Given the description of an element on the screen output the (x, y) to click on. 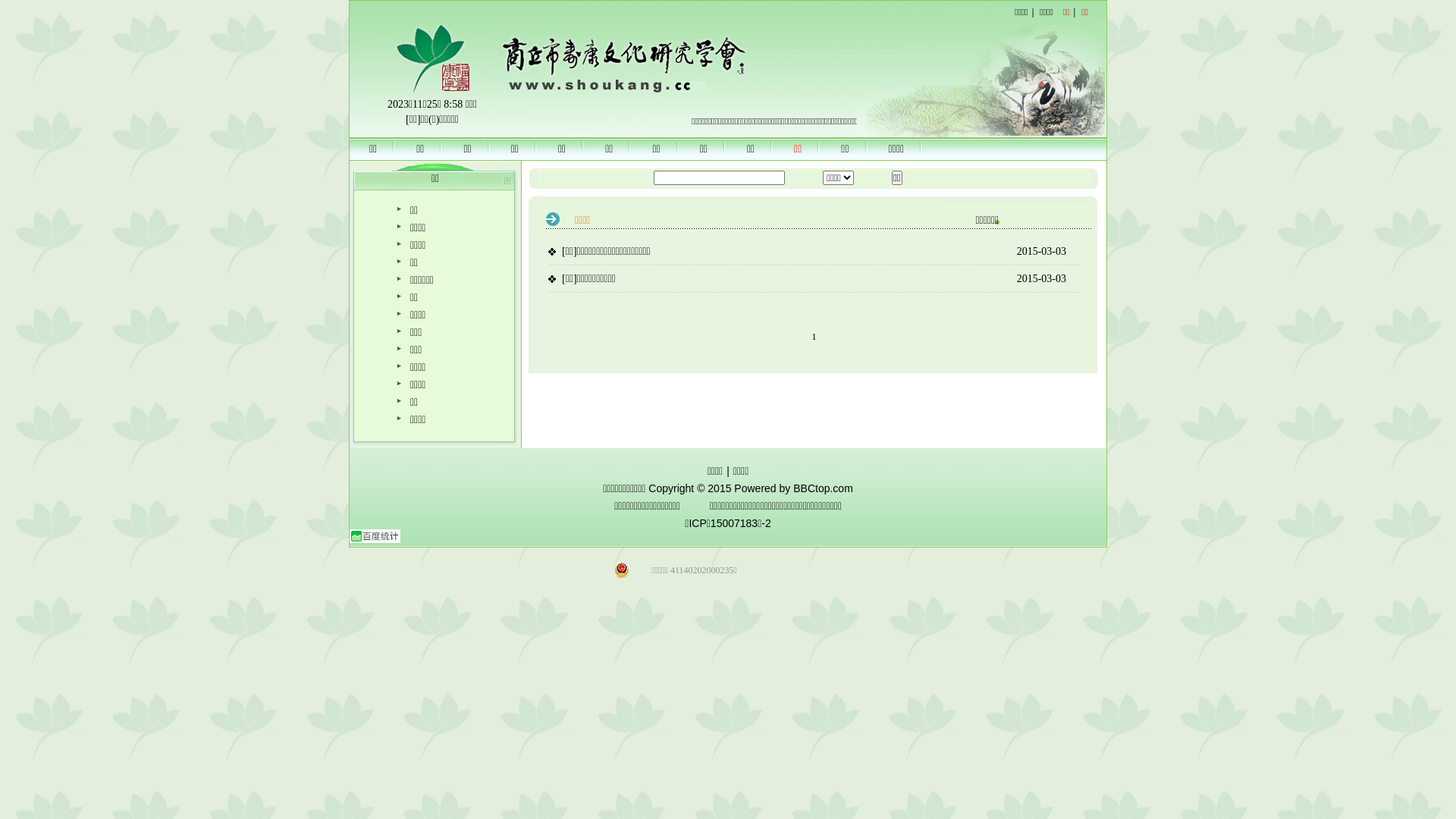
1 Element type: text (813, 336)
BBCtop.com Element type: text (823, 488)
